Given the description of an element on the screen output the (x, y) to click on. 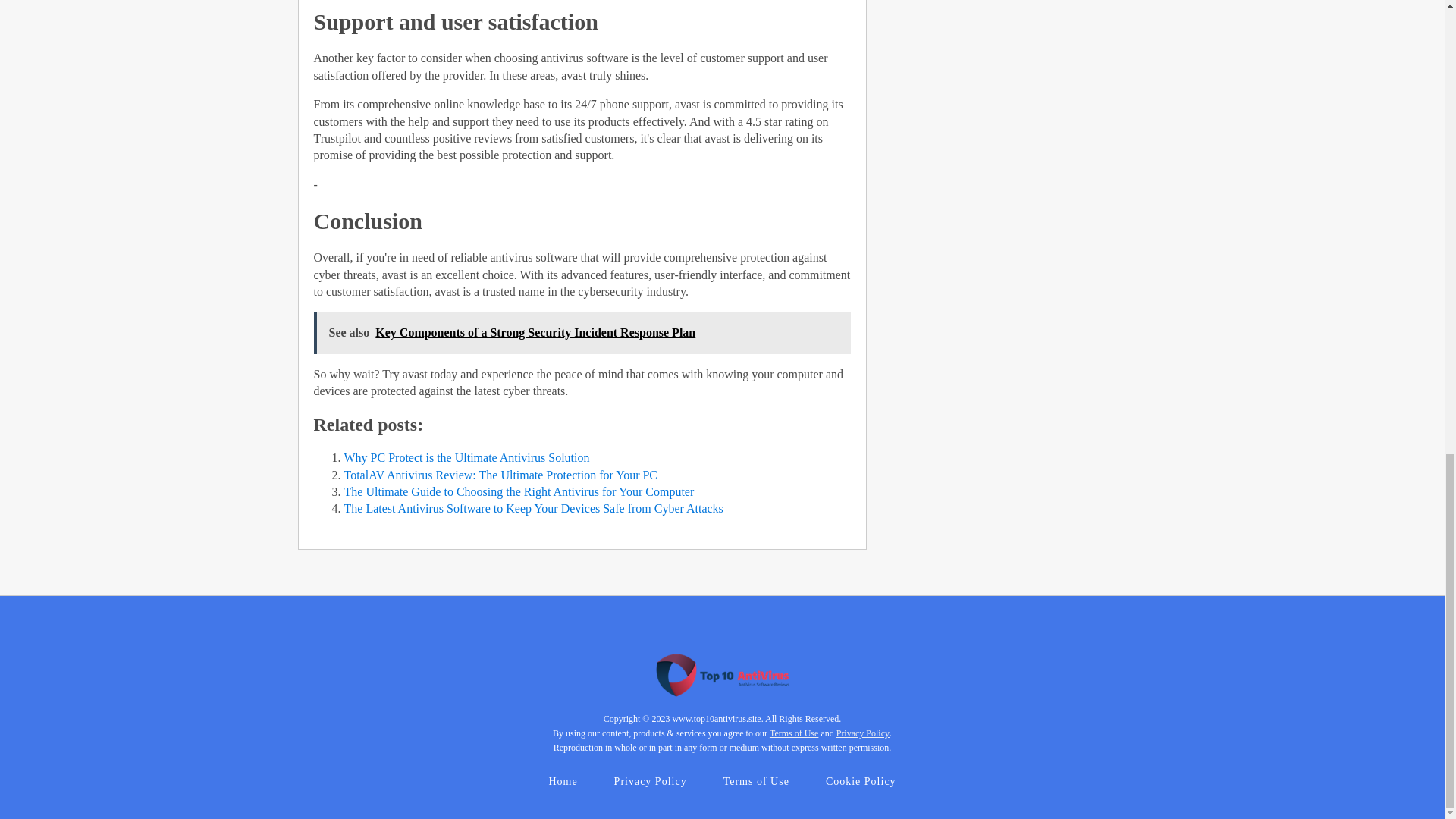
Terms of Use (794, 733)
Terms of Use (756, 781)
Cookie Policy (861, 781)
Privacy Policy (649, 781)
Privacy Policy (862, 733)
Home (562, 781)
Why PC Protect is the Ultimate Antivirus Solution (466, 457)
